Given the description of an element on the screen output the (x, y) to click on. 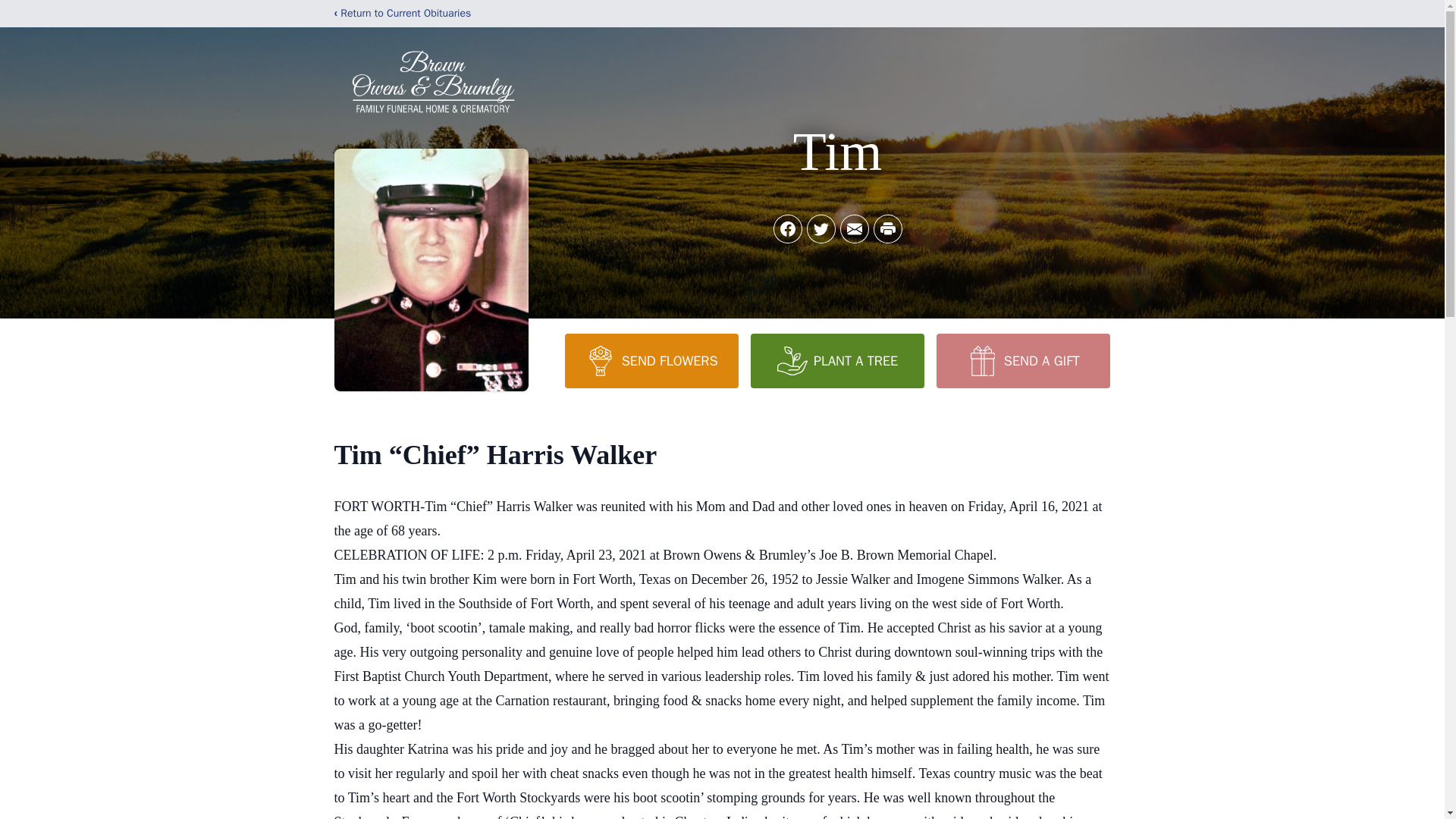
SEND FLOWERS (651, 360)
PLANT A TREE (837, 360)
SEND A GIFT (1022, 360)
